Given the description of an element on the screen output the (x, y) to click on. 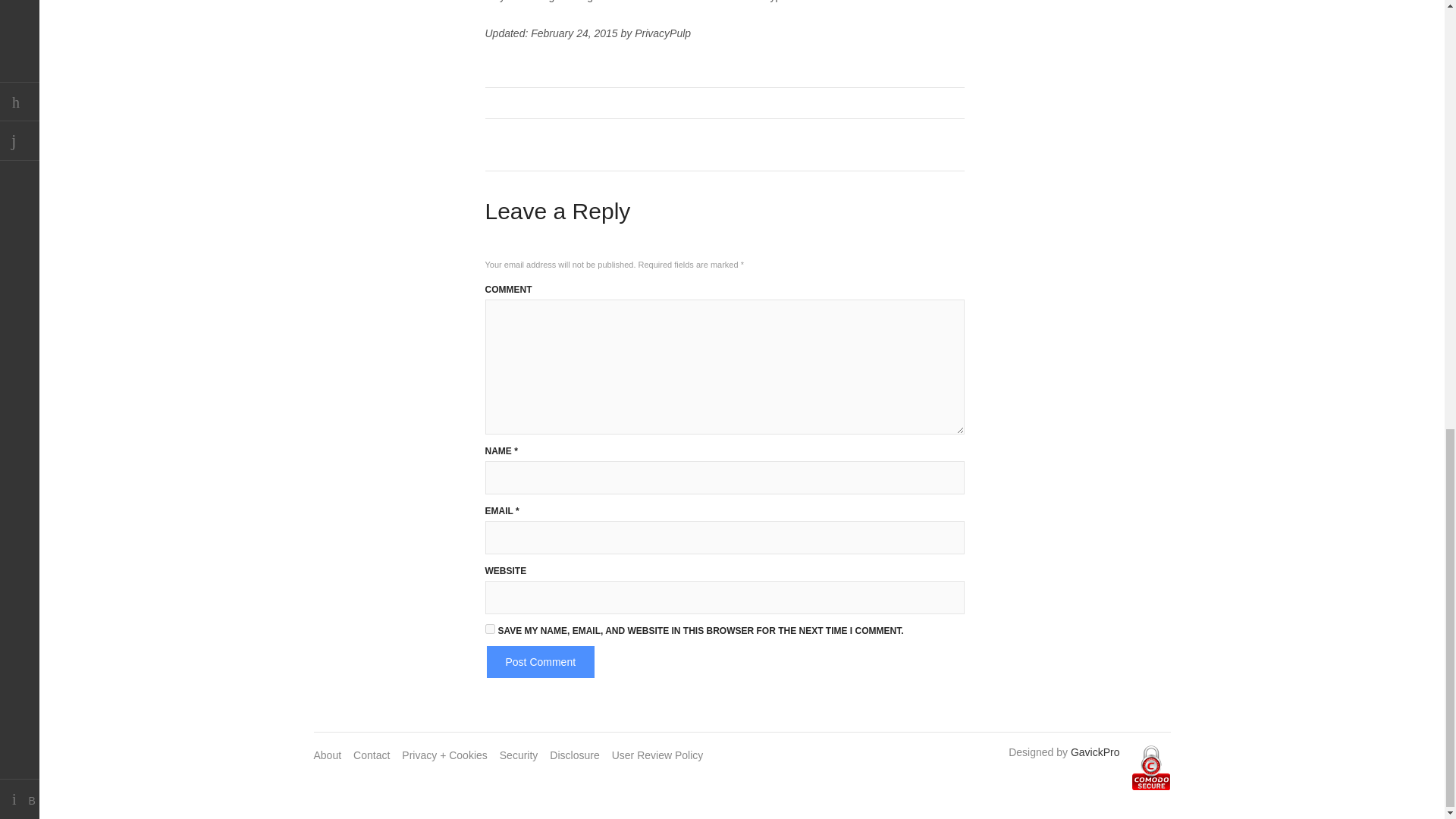
yes (489, 628)
Post Comment (540, 662)
Post Comment (540, 662)
